Given the description of an element on the screen output the (x, y) to click on. 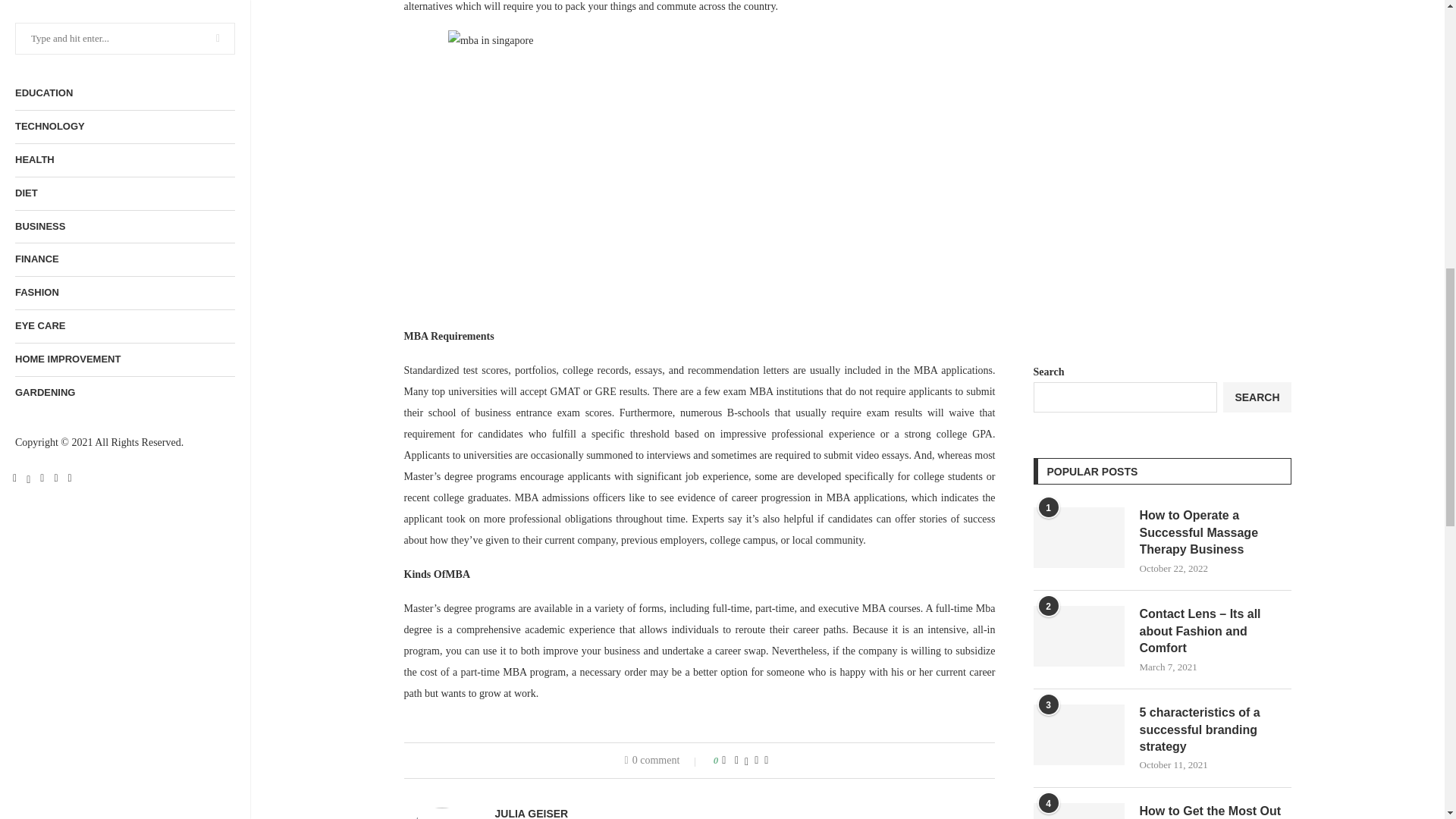
JULIA GEISER (531, 813)
Author Julia Geiser (531, 813)
How to Operate a Successful Massage Therapy Business (1078, 537)
How to Operate a Successful Massage Therapy Business (1214, 531)
Advertisement (1161, 208)
